Given the description of an element on the screen output the (x, y) to click on. 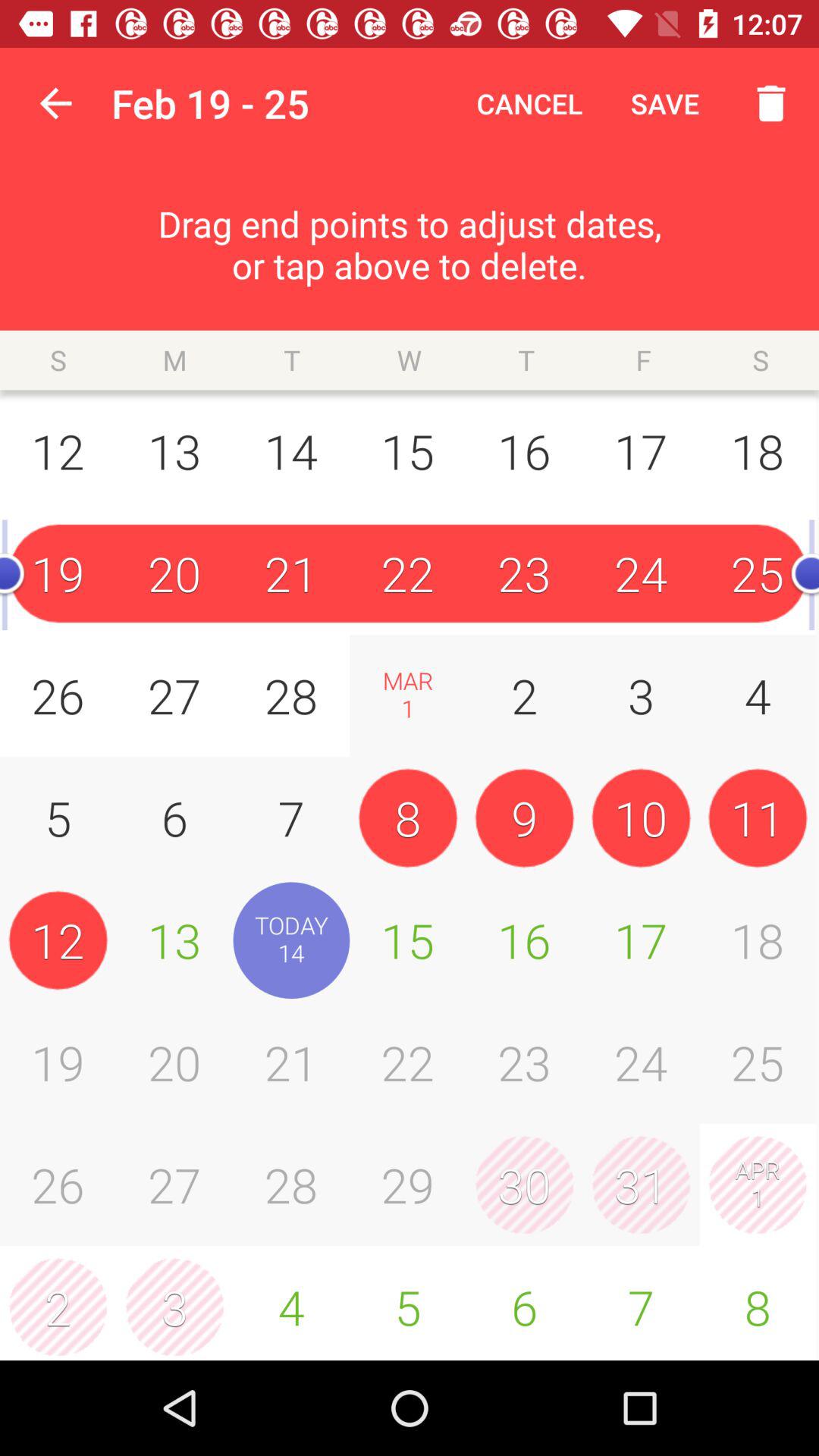
tap item next to save item (529, 103)
